Given the description of an element on the screen output the (x, y) to click on. 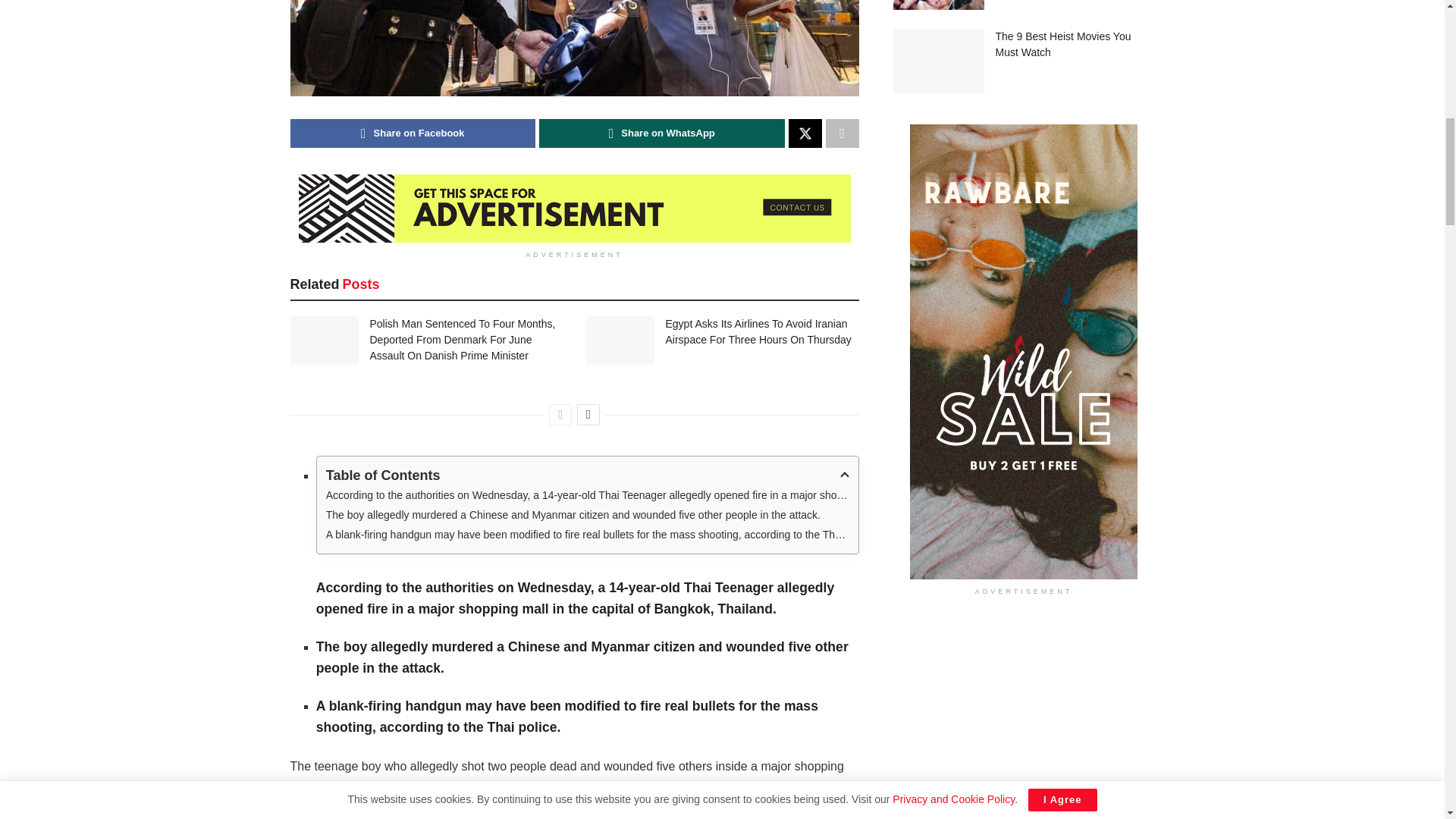
Next (587, 414)
Previous (560, 414)
